Given the description of an element on the screen output the (x, y) to click on. 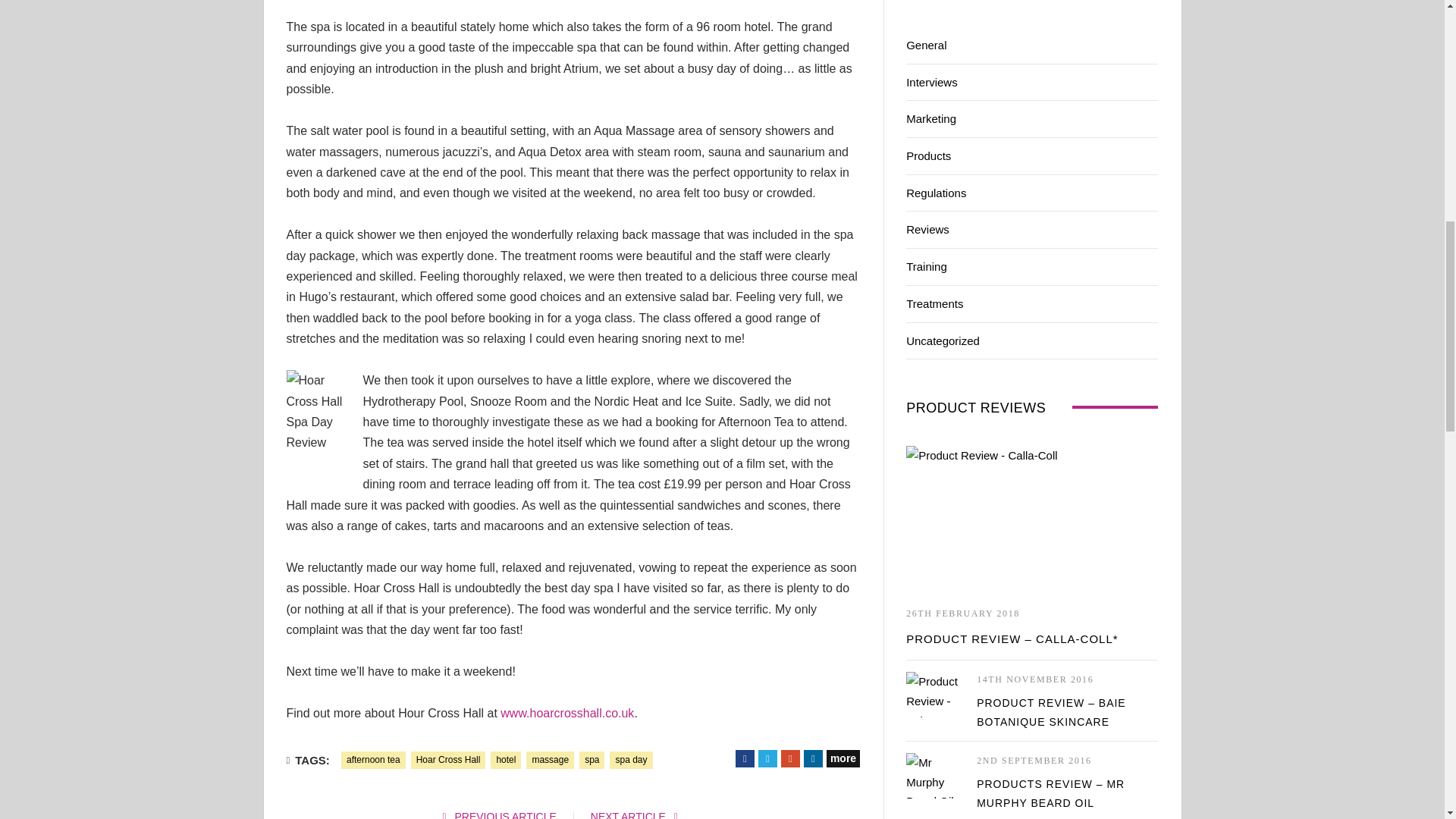
Facebook (744, 758)
Share on Facebook (744, 758)
spa (591, 760)
afternoon tea (373, 760)
spa day (631, 760)
Tweet It (767, 758)
www.hoarcrosshall.co.uk (566, 712)
hotel (505, 760)
Hoar Cross Hall (448, 760)
Twitter (767, 758)
